Given the description of an element on the screen output the (x, y) to click on. 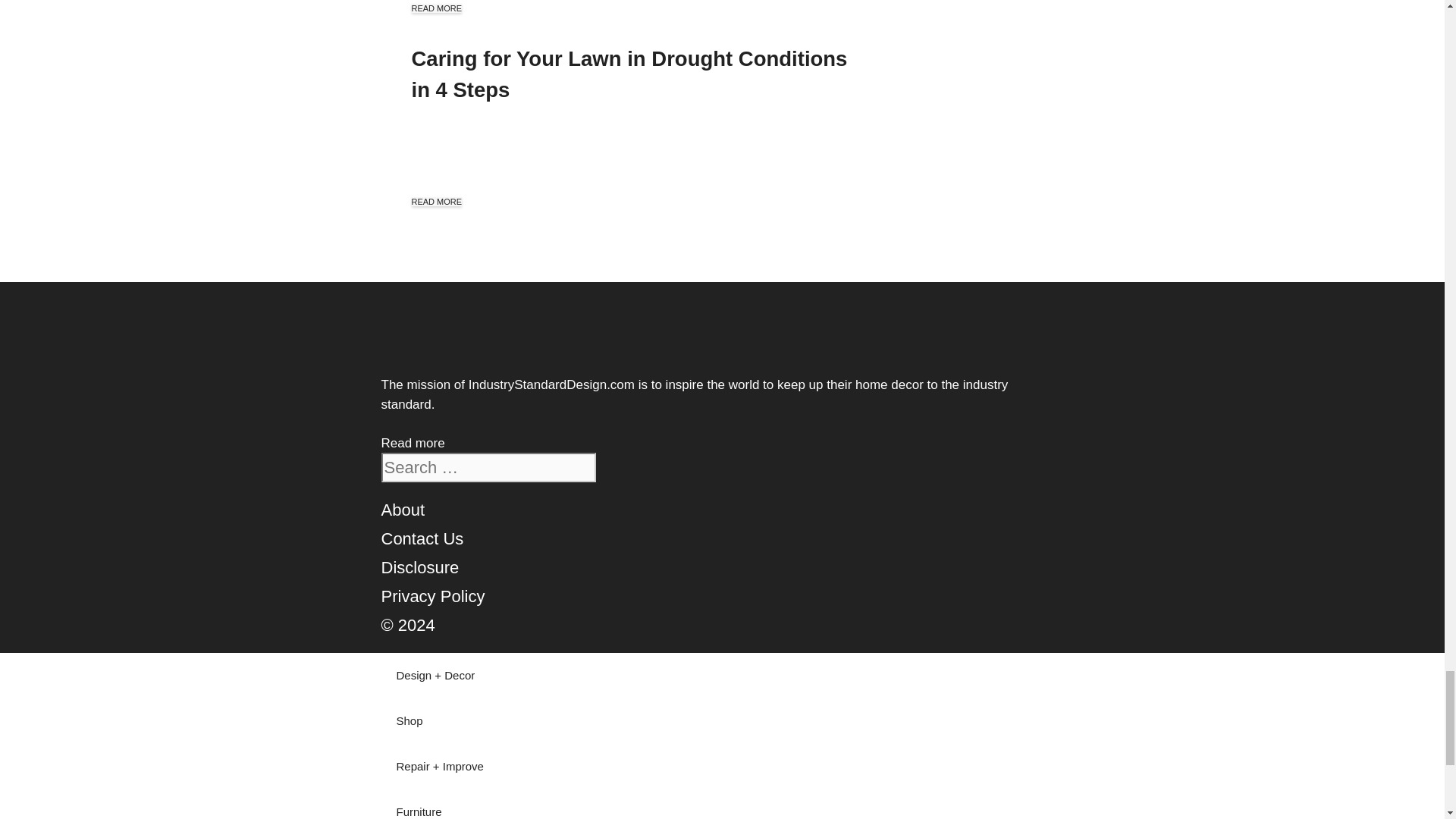
READ MORE (435, 201)
READ MORE (435, 8)
Search for: (487, 467)
Caring for Your Lawn in Drought Conditions in 4 Steps (628, 73)
Caring for Your Lawn in Drought Conditions in 4 Steps (628, 73)
